Given the description of an element on the screen output the (x, y) to click on. 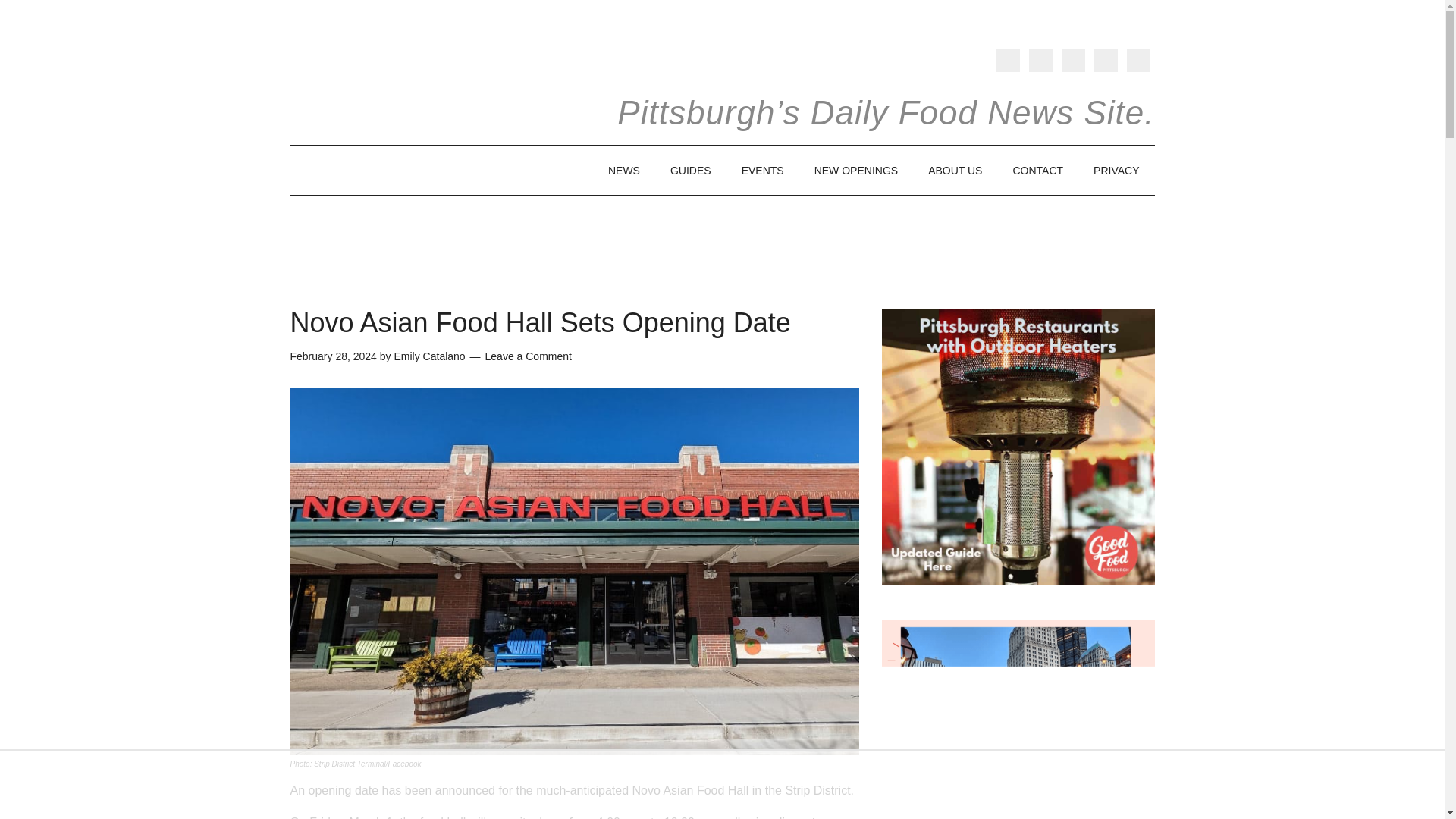
PRIVACY (1116, 170)
EVENTS (762, 170)
Leave a Comment (528, 356)
CONTACT (1037, 170)
ABOUT US (954, 170)
GUIDES (690, 170)
Good Food Pittsburgh (387, 91)
NEW OPENINGS (855, 170)
Emily Catalano (428, 356)
NEWS (623, 170)
